Given the description of an element on the screen output the (x, y) to click on. 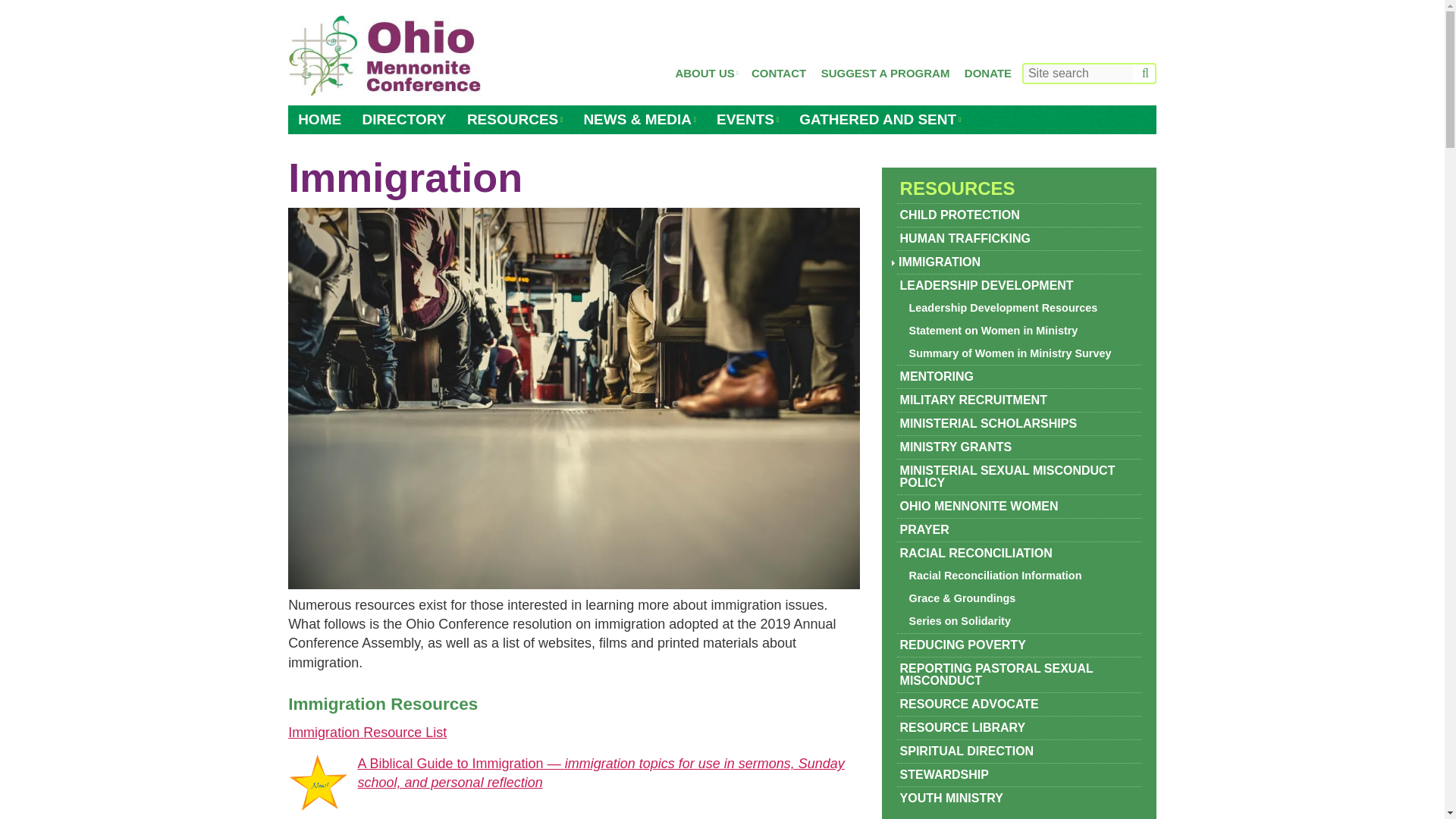
RESOURCES (514, 119)
DIRECTORY (404, 119)
HOME (319, 119)
Ohio Mennonite Conference (384, 55)
